Given the description of an element on the screen output the (x, y) to click on. 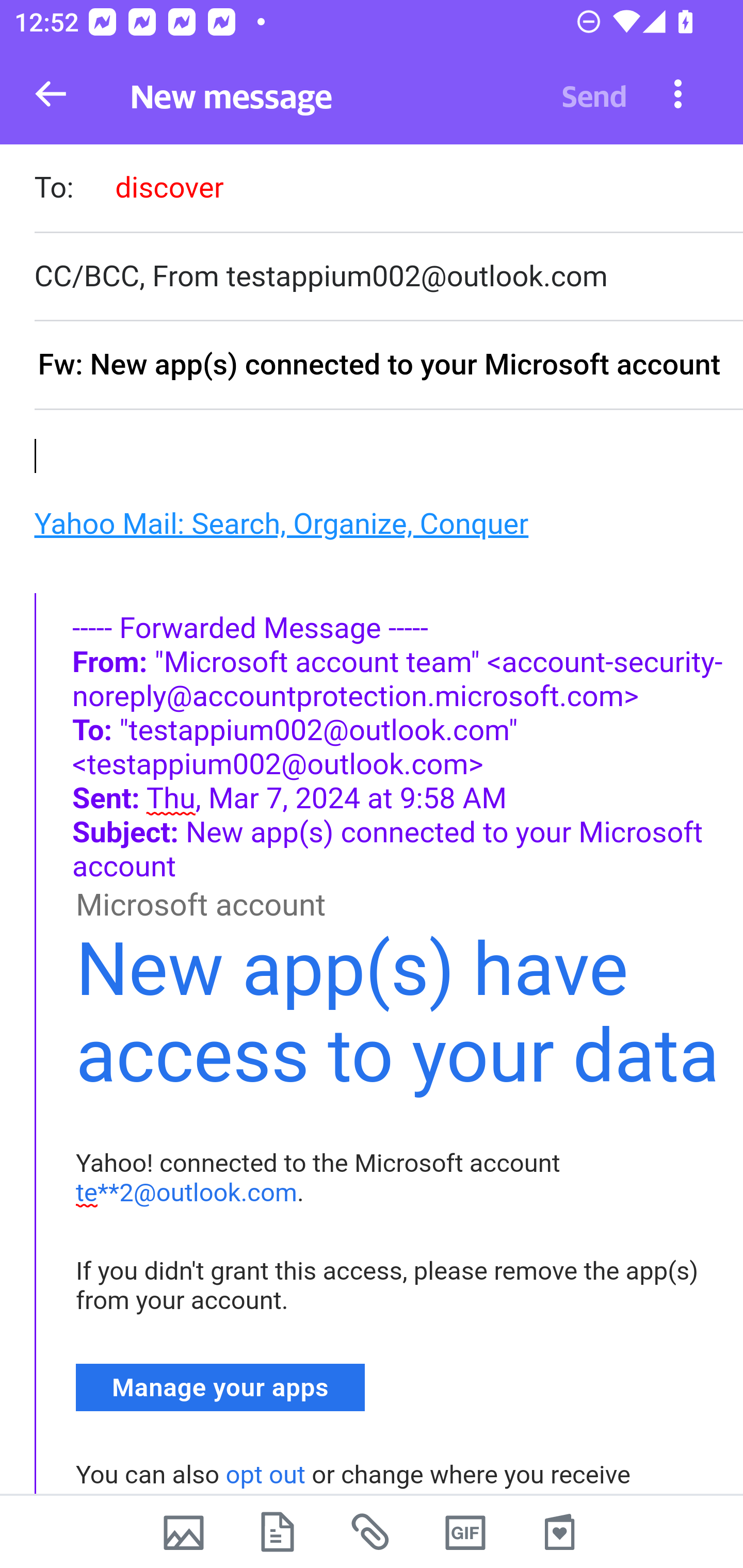
Back (50, 93)
Send (594, 93)
More options (677, 93)
To: discover (387, 189)
discover (169, 187)
CC/BCC, From testappium002@outlook.com (387, 276)
Fw: New app(s) connected to your Microsoft account (387, 365)
Yahoo Mail: Search, Organize, Conquer (280, 522)
te**2@outlook.com (186, 1192)
Manage your apps (220, 1386)
opt out (264, 1474)
Camera photos (183, 1531)
Device files (277, 1531)
Recent attachments from mail (371, 1531)
GIFs (465, 1531)
Stationery (559, 1531)
